Given the description of an element on the screen output the (x, y) to click on. 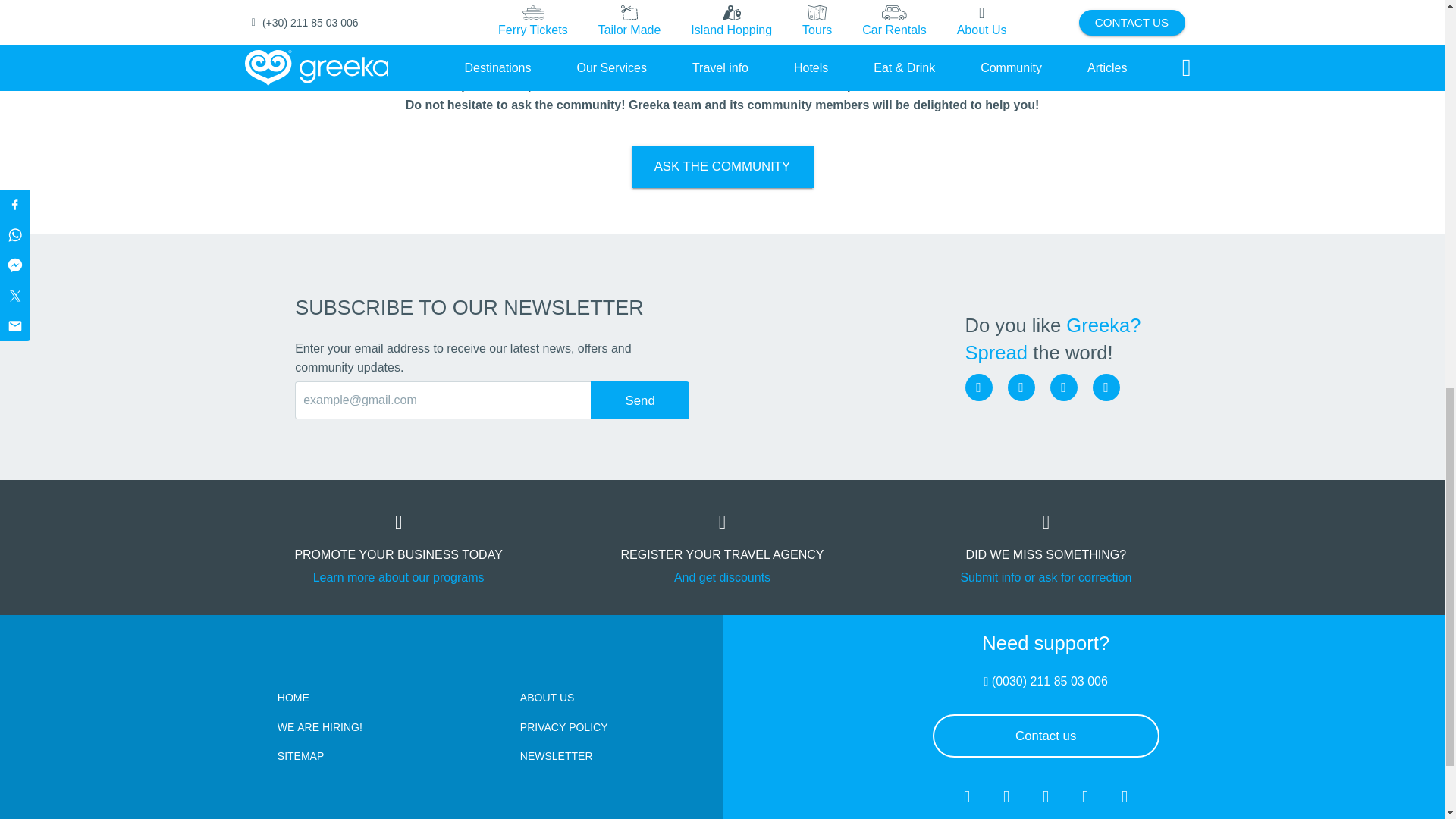
Send (639, 400)
Send (639, 400)
ASK THE COMMUNITY (721, 167)
Instagram (1020, 387)
Facebook (977, 387)
